Given the description of an element on the screen output the (x, y) to click on. 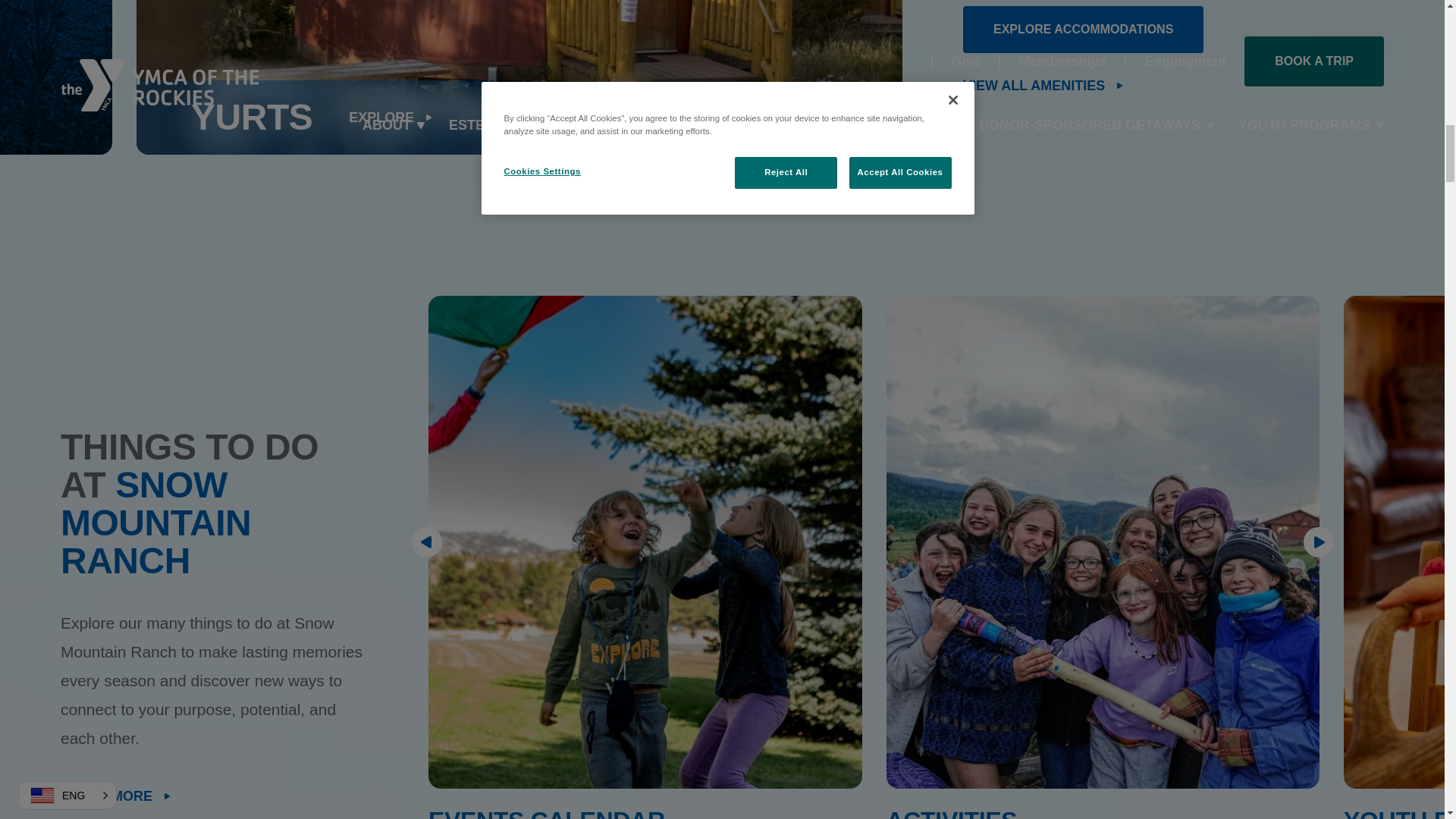
Explore Accommodations (1083, 29)
Learn More (117, 795)
Explore (392, 117)
View all Amenities (1043, 85)
